Given the description of an element on the screen output the (x, y) to click on. 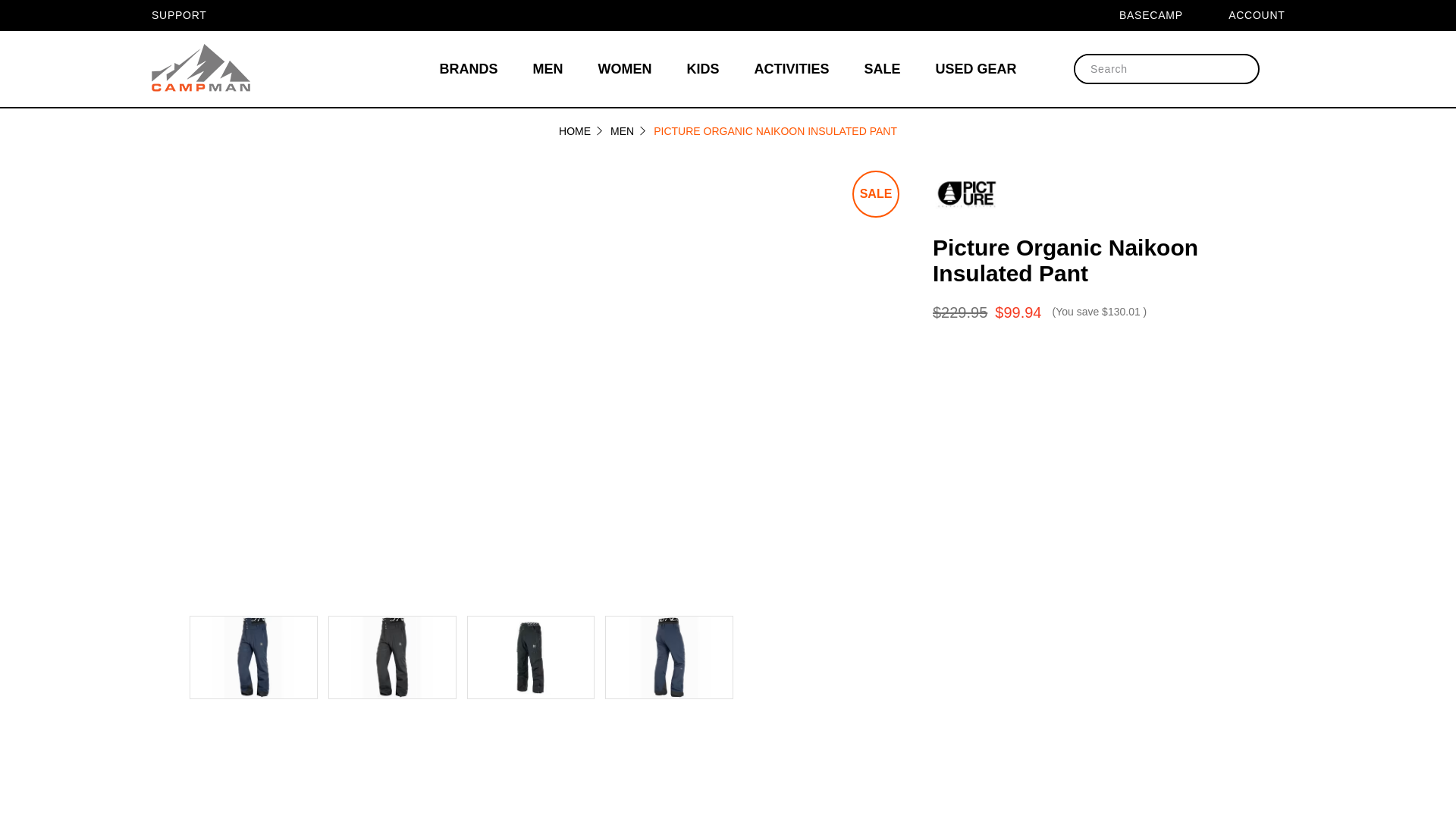
Naikoon Pant - Rear View (668, 657)
BASECAMP (1160, 15)
SUPPORT (188, 15)
Campman.com (200, 69)
Naikoon Pant - Dark Blue (253, 657)
BRANDS (468, 69)
ACCOUNT (1266, 15)
Naikoon Pant - Black (392, 657)
